Given the description of an element on the screen output the (x, y) to click on. 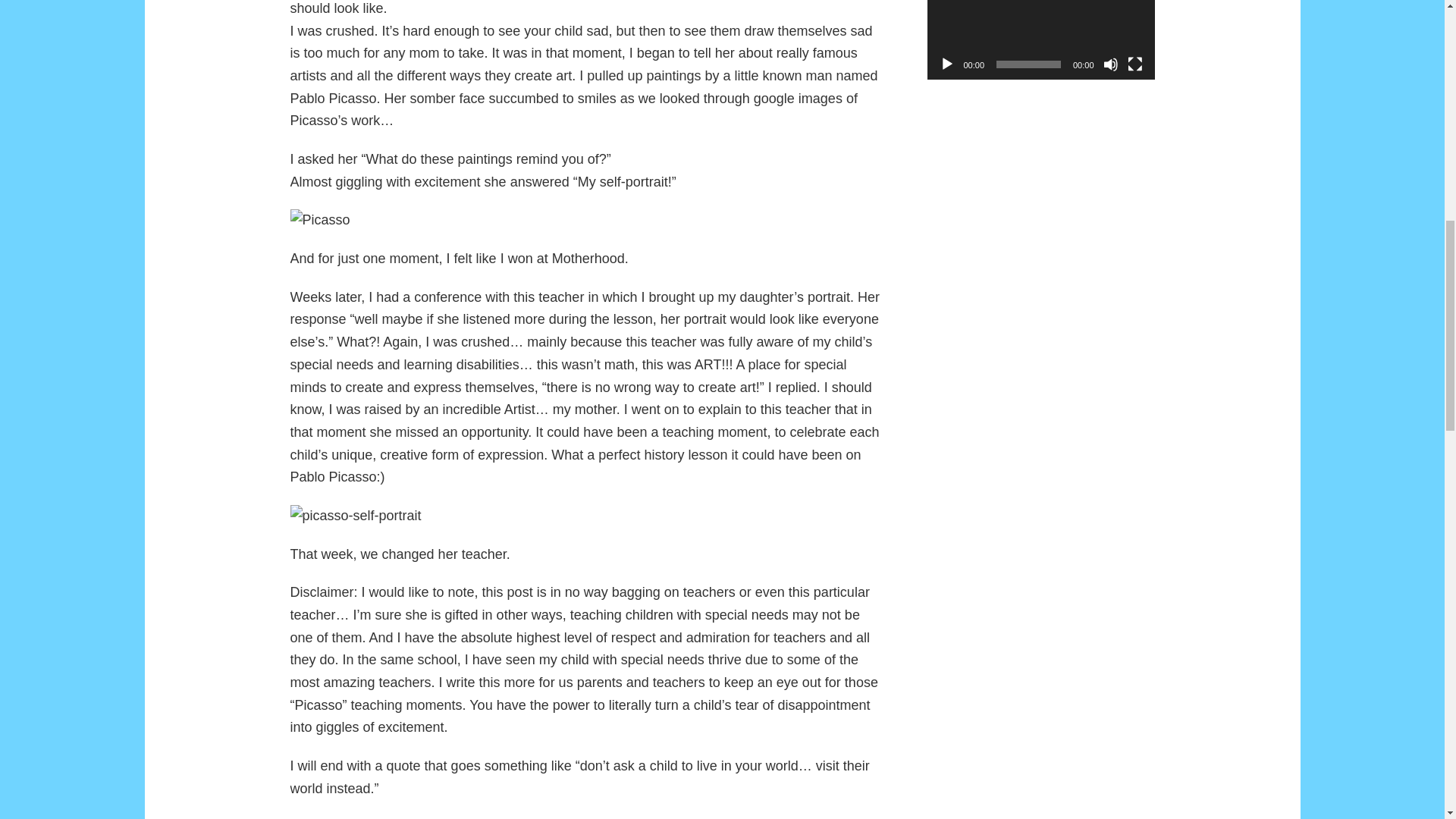
Fullscreen (1133, 64)
Play (946, 64)
Mute (1110, 64)
